Given the description of an element on the screen output the (x, y) to click on. 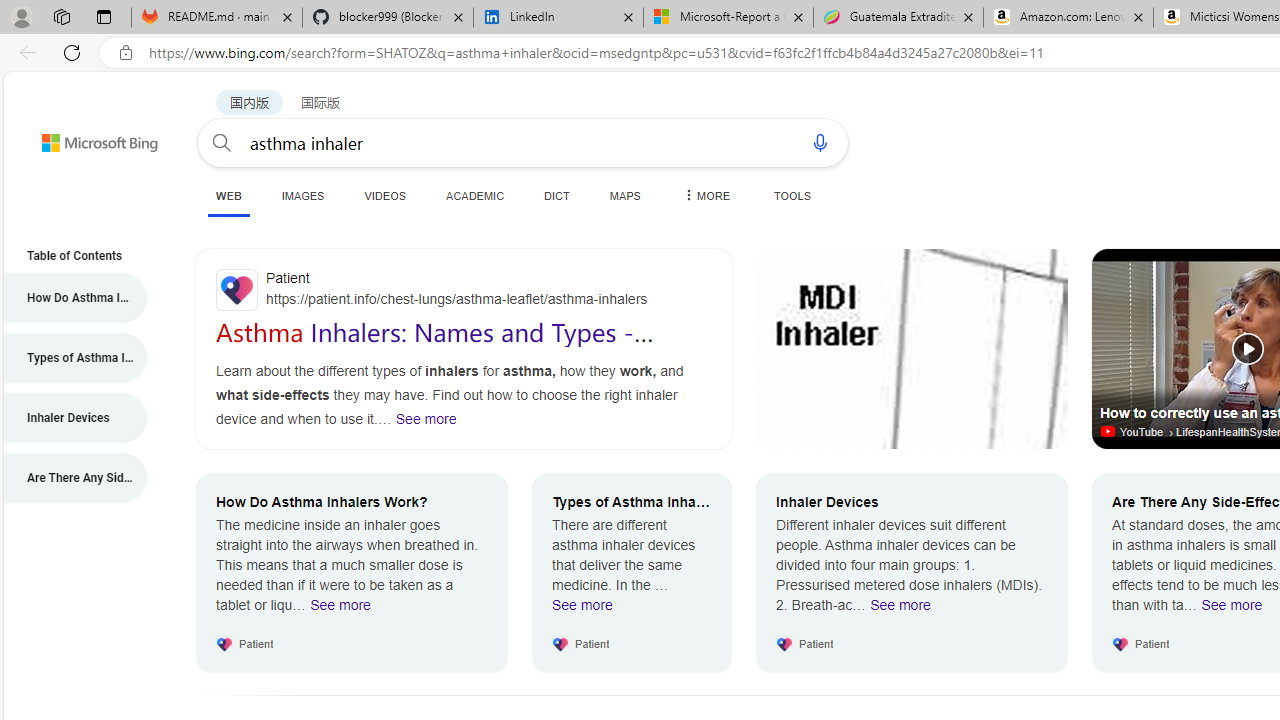
MORE (705, 195)
MAPS (624, 195)
Asthma Inhalers: Names and Types - Patient (435, 345)
Search using voice (820, 142)
ACADEMIC (475, 195)
TOOLS (792, 195)
ACADEMIC (475, 195)
TOOLS (792, 195)
